Given the description of an element on the screen output the (x, y) to click on. 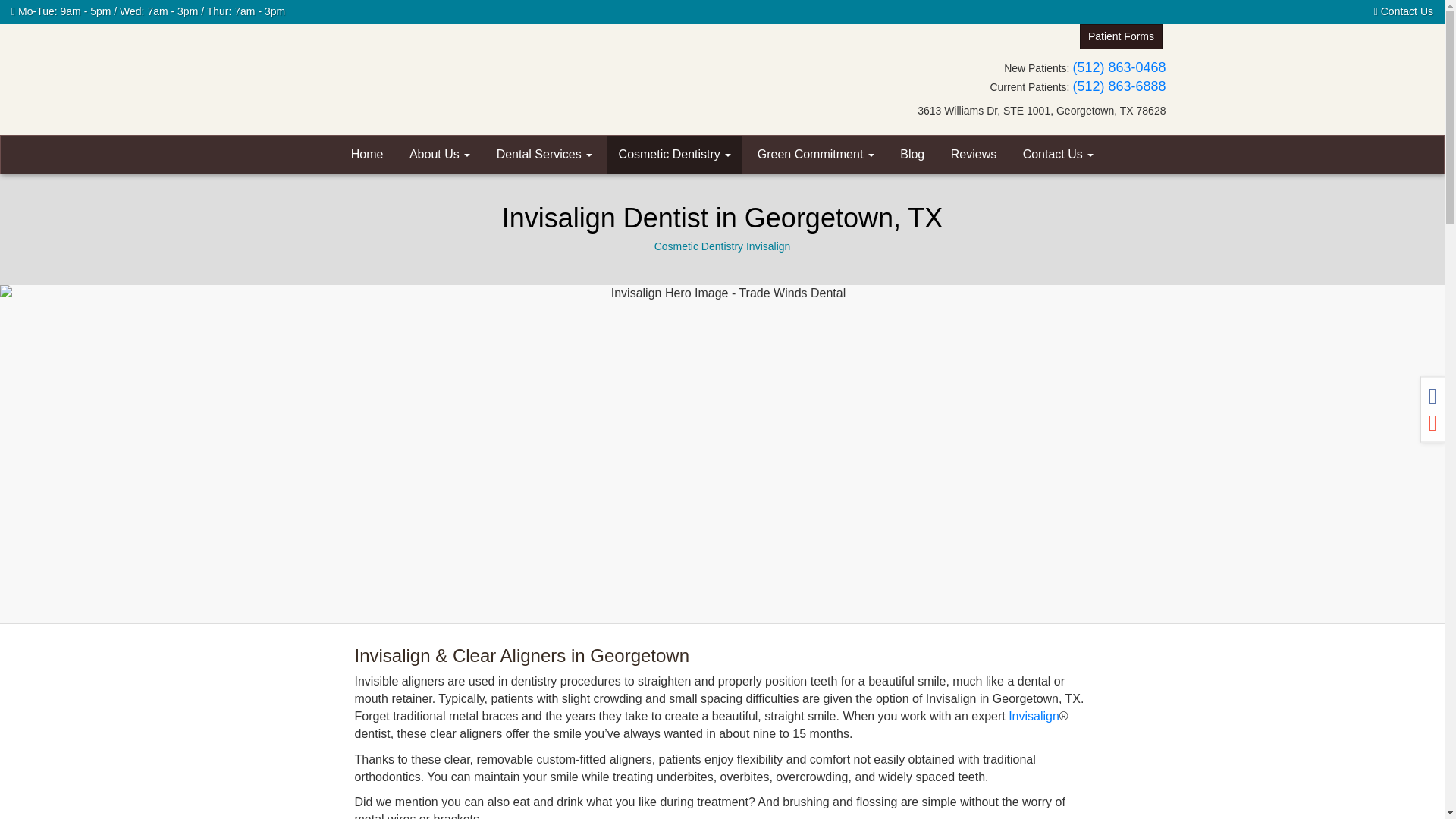
Dental Services (544, 154)
Patient Forms (1120, 36)
Contact Us (1403, 10)
About Us (439, 154)
Home (366, 154)
Cosmetic Dentistry (674, 154)
